Given the description of an element on the screen output the (x, y) to click on. 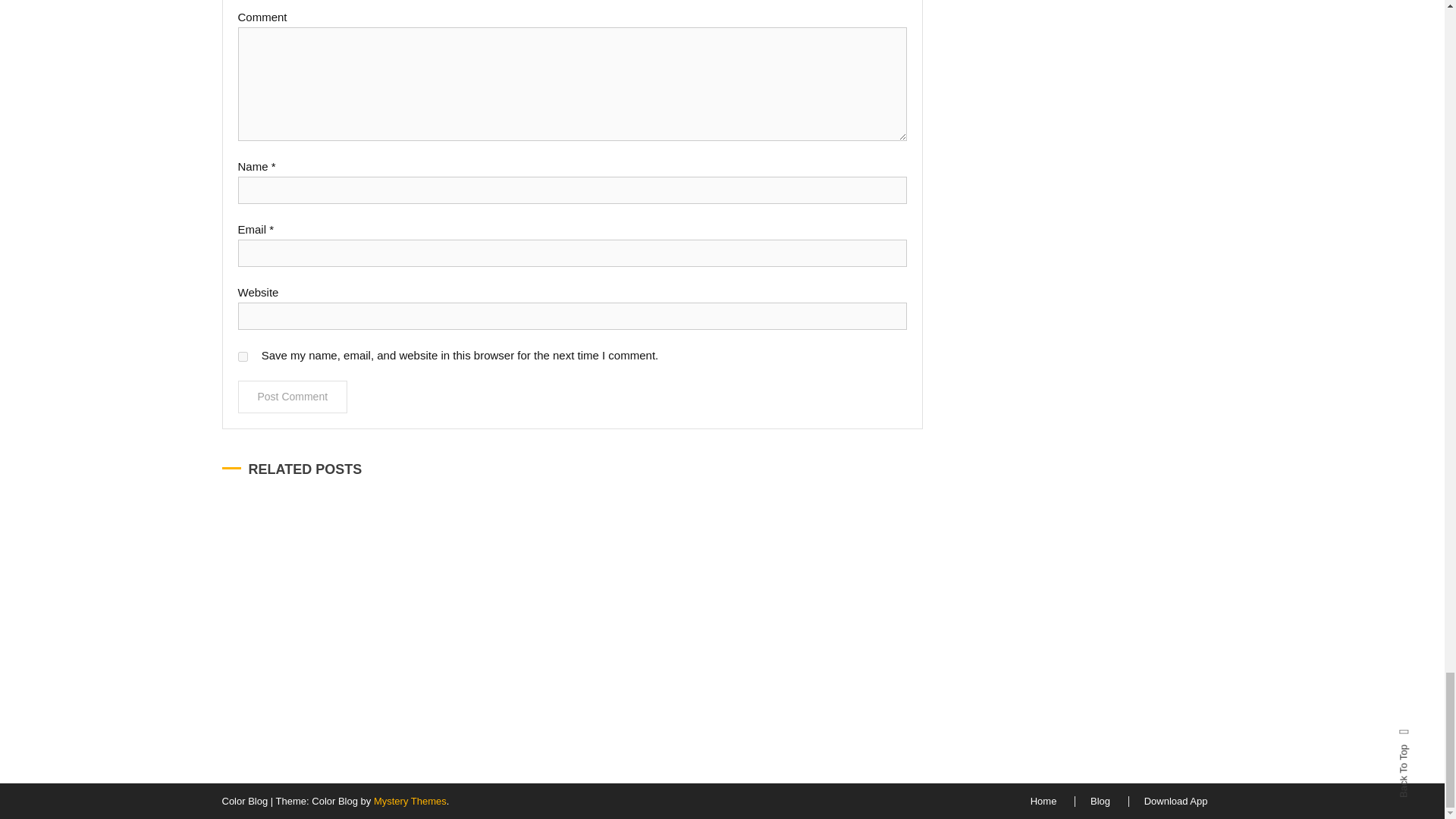
Post Comment (292, 396)
yes (242, 356)
Post Comment (292, 396)
